Given the description of an element on the screen output the (x, y) to click on. 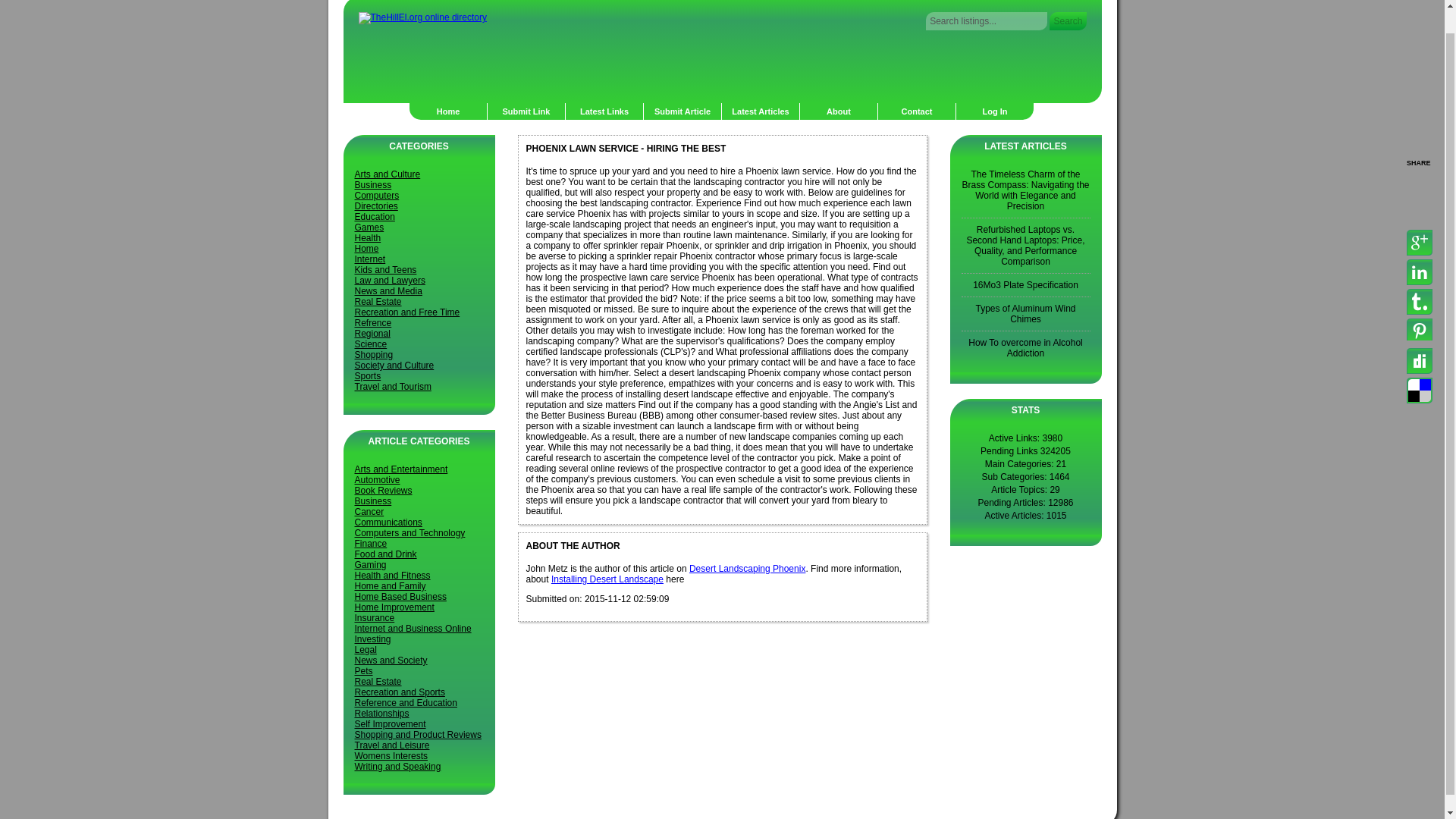
Search listings... (986, 21)
Computers (376, 195)
Search (1067, 21)
Directories (376, 205)
Submit Link (526, 111)
Home (366, 248)
News and Media (388, 290)
Search (1067, 21)
Recreation and Free Time (407, 312)
Law and Lawyers (390, 280)
Kids and Teens (385, 269)
Submit Article (682, 111)
Shopping (374, 354)
Regional (372, 333)
Contact (916, 111)
